Given the description of an element on the screen output the (x, y) to click on. 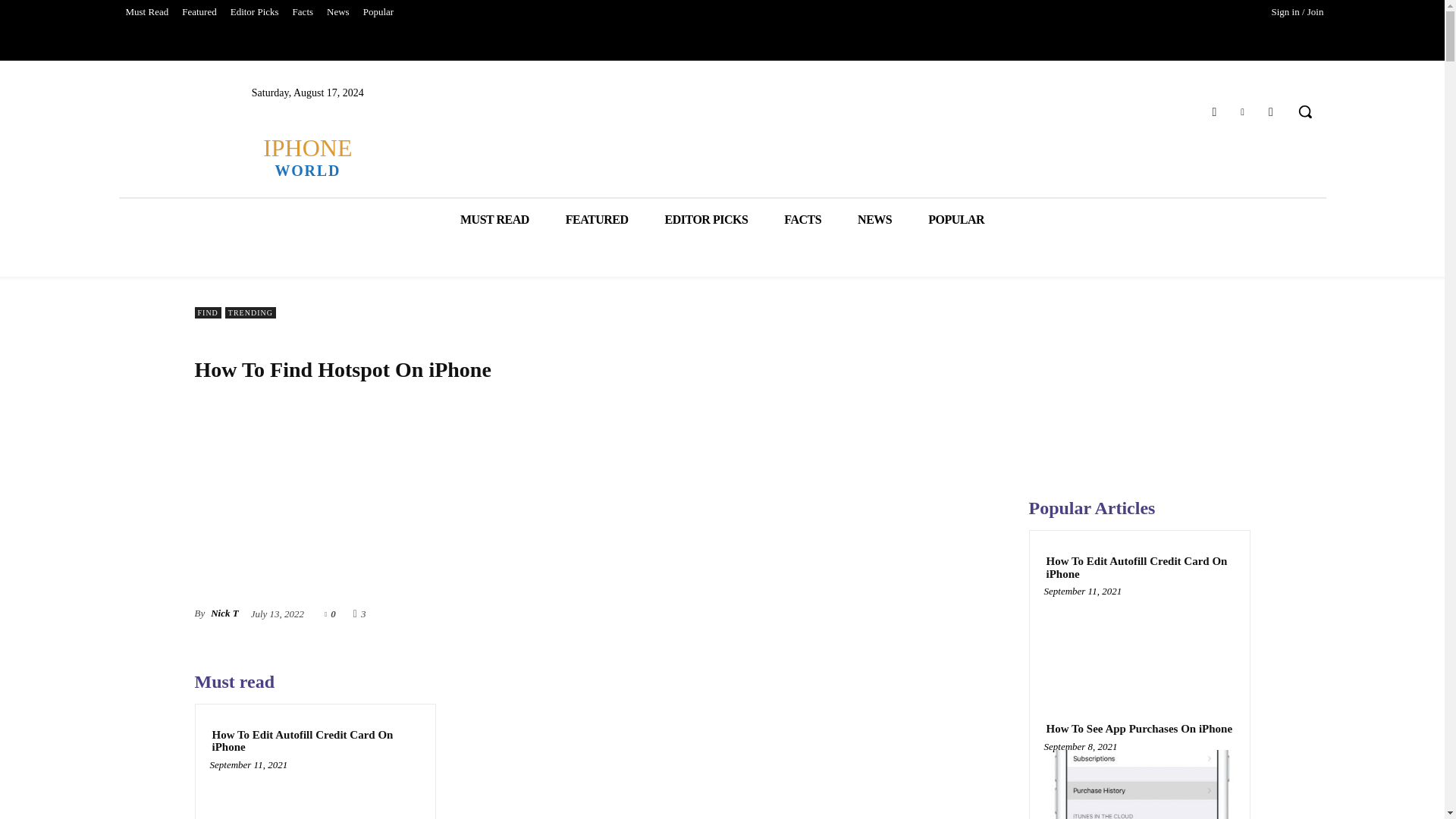
Twitter (1241, 111)
Popular (378, 12)
Facts (302, 12)
Editor Picks (254, 12)
FEATURED (596, 219)
EDITOR PICKS (706, 219)
MUST READ (494, 219)
Must Read (145, 12)
How To Edit Autofill Credit Card On iPhone (314, 740)
